Given the description of an element on the screen output the (x, y) to click on. 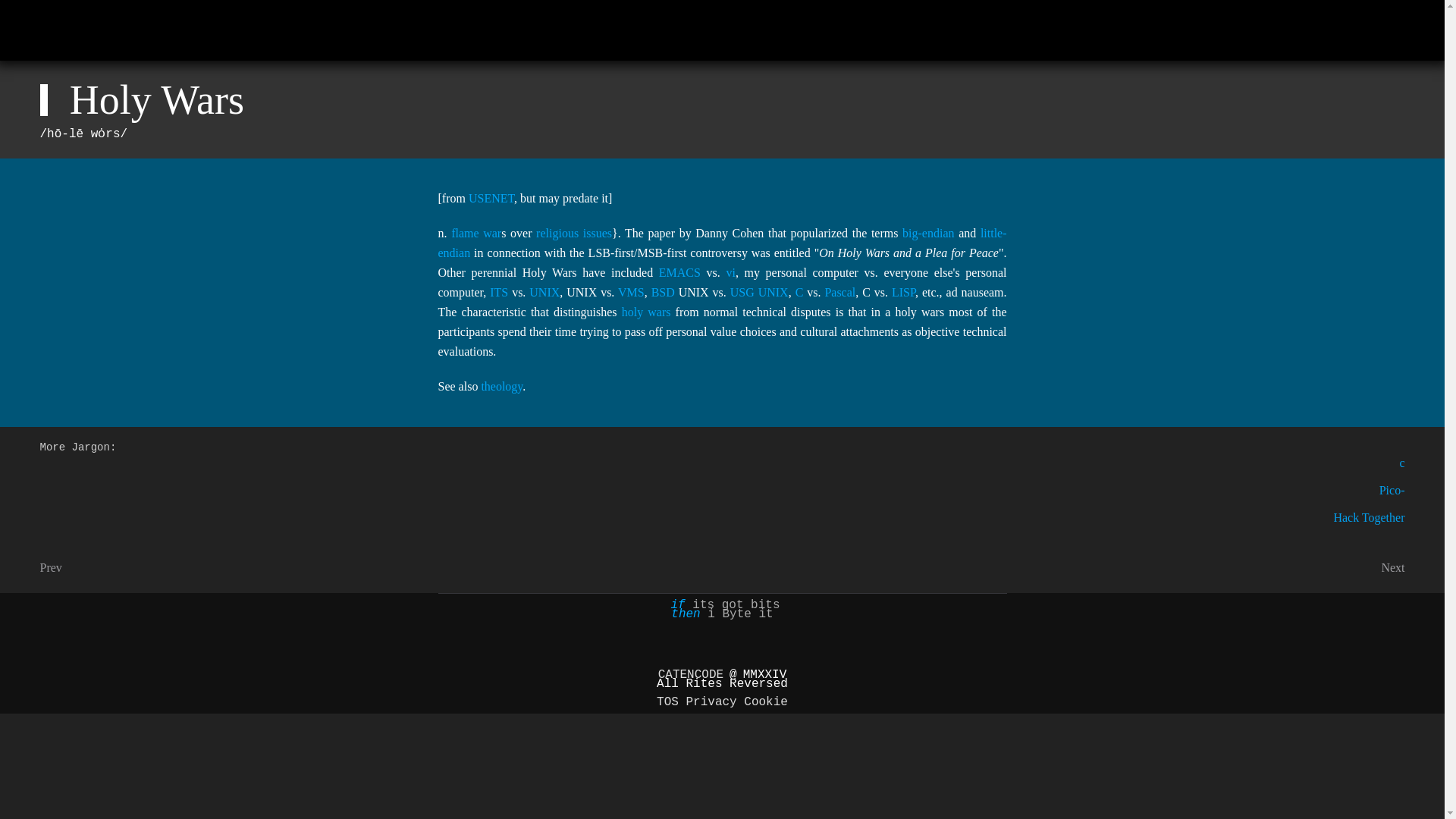
C (798, 291)
VMS (631, 291)
EMACS (679, 272)
CATENCODE (690, 674)
vi (730, 272)
UNIX (544, 291)
Pico- (1391, 490)
Pascal (840, 291)
USG UNIX (759, 291)
little-endian (722, 242)
religious issues (573, 232)
BSD (662, 291)
holy wars (646, 311)
Next (1392, 567)
USENET (490, 197)
